Given the description of an element on the screen output the (x, y) to click on. 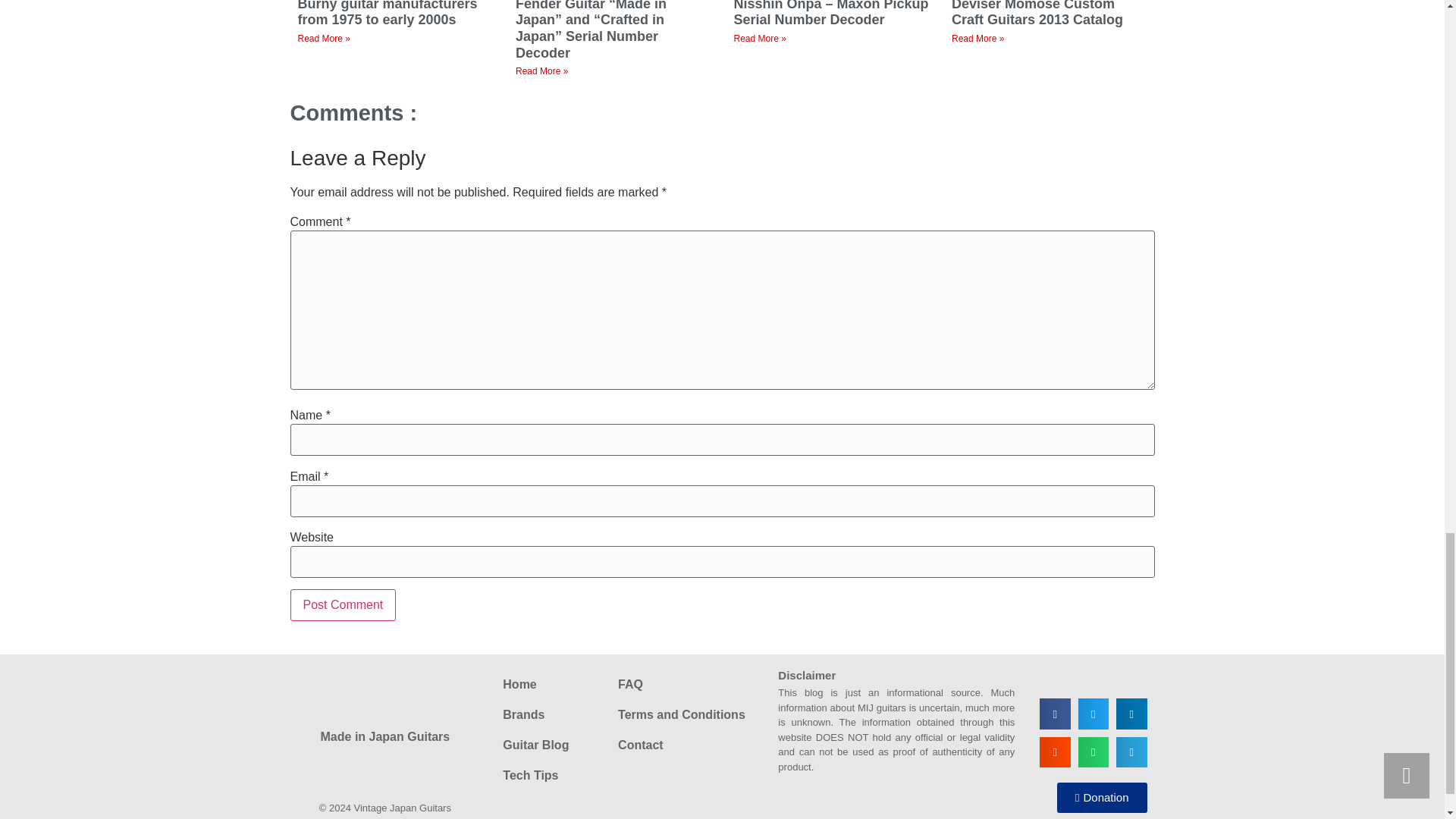
Post Comment (342, 604)
